Given the description of an element on the screen output the (x, y) to click on. 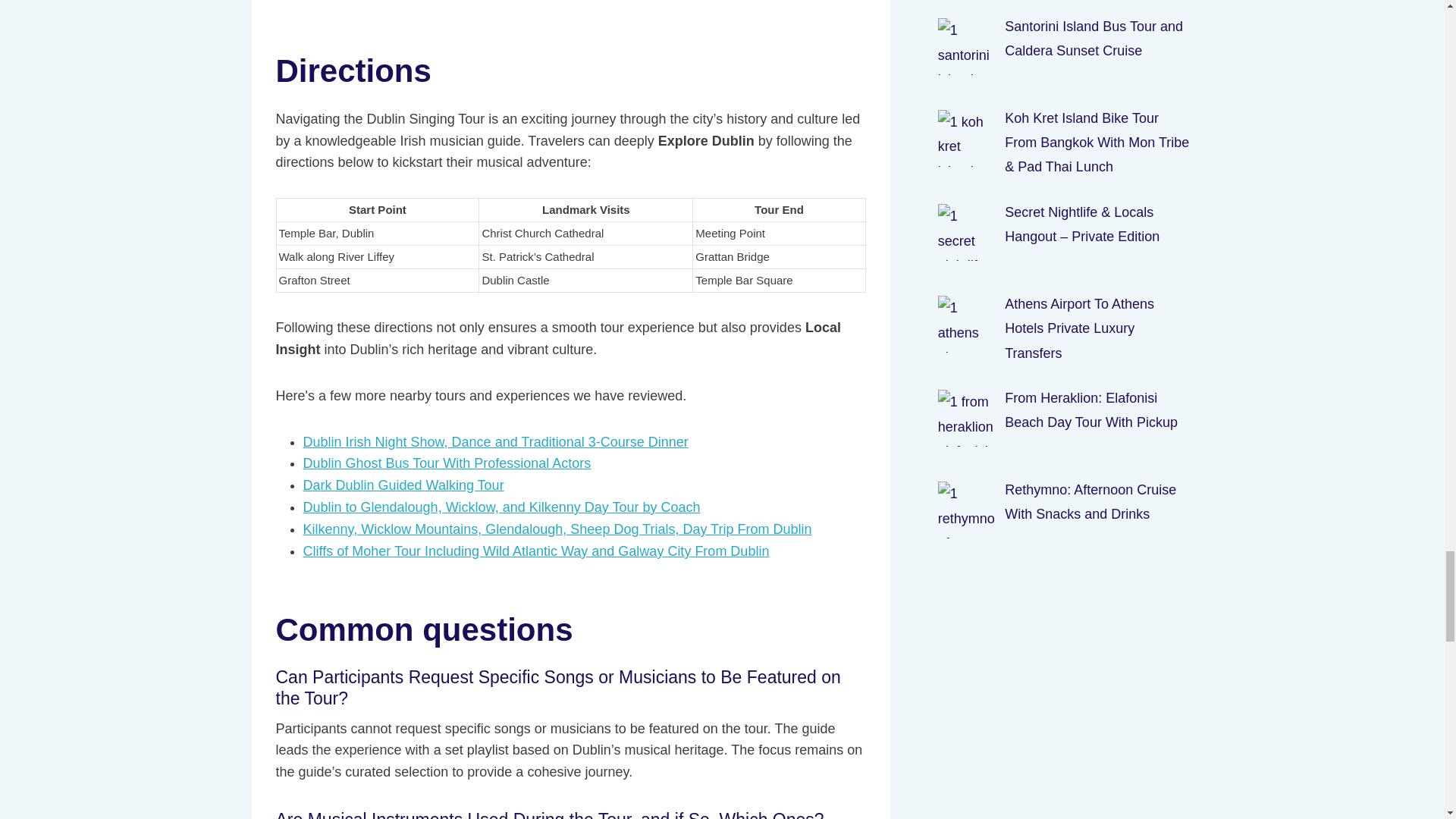
Dublin Ghost Bus Tour With Professional Actors (446, 462)
Dark Dublin Guided Walking Tour (402, 485)
